Given the description of an element on the screen output the (x, y) to click on. 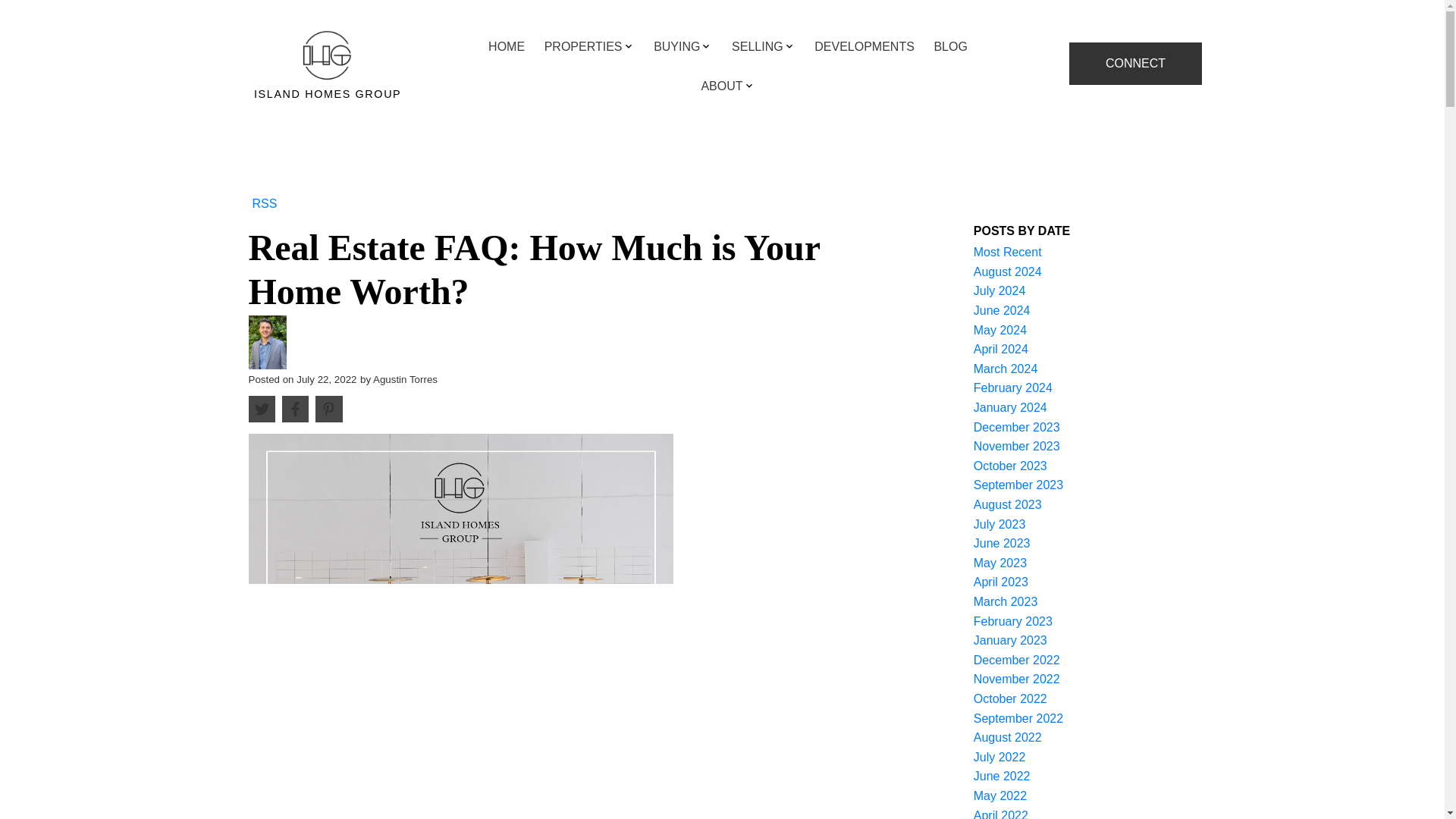
HOME (505, 46)
Most Recent (1008, 251)
July 2024 (1000, 290)
December 2023 (1016, 427)
ISLAND HOMES GROUP (327, 61)
RSS (264, 202)
April 2024 (1000, 349)
September 2023 (1018, 484)
May 2024 (1000, 329)
June 2024 (1002, 309)
